Given the description of an element on the screen output the (x, y) to click on. 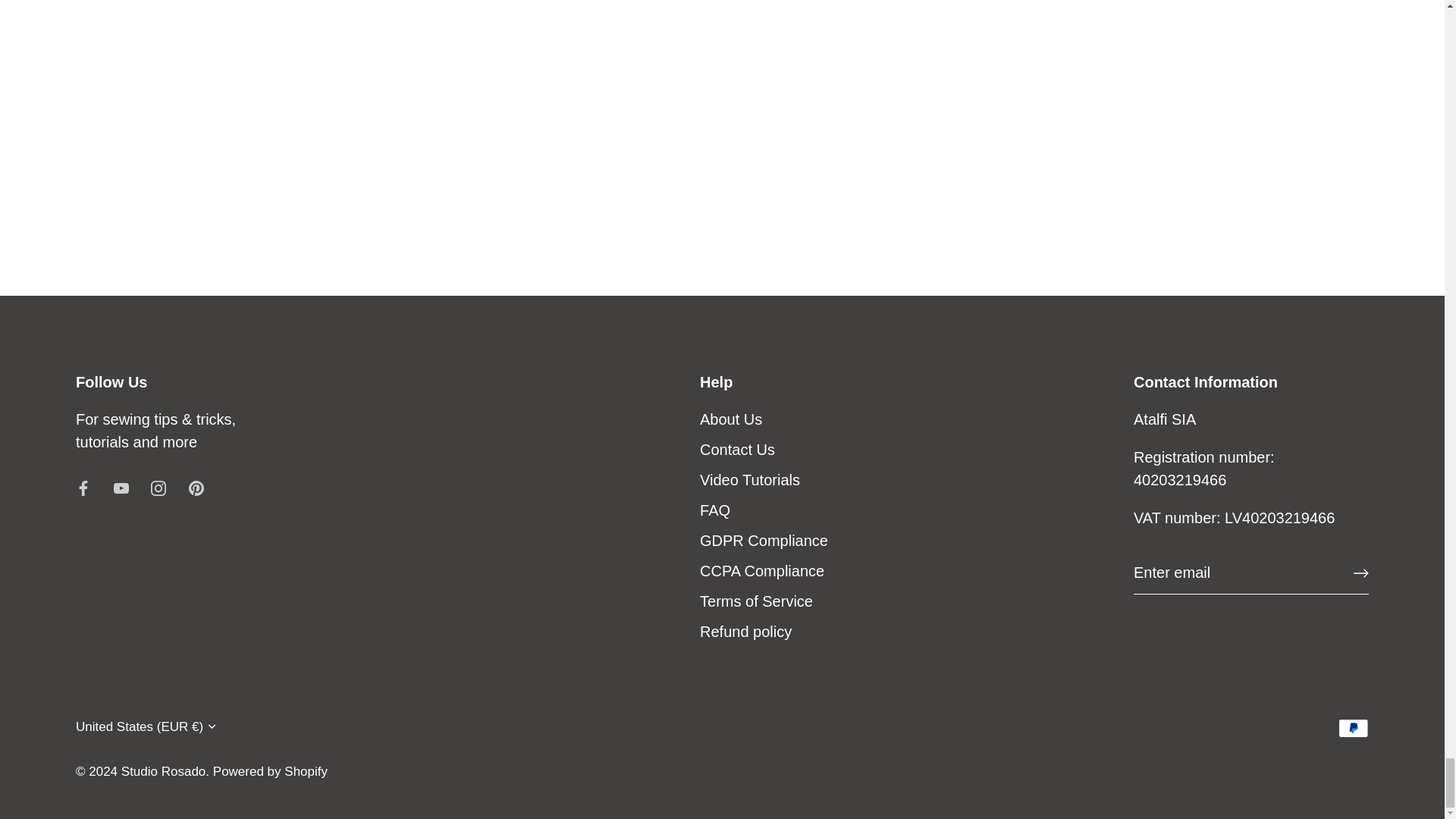
Instagram (158, 488)
PayPal (1353, 728)
RIGHT ARROW LONG (1361, 572)
Pinterest (196, 488)
Youtube (121, 488)
